Given the description of an element on the screen output the (x, y) to click on. 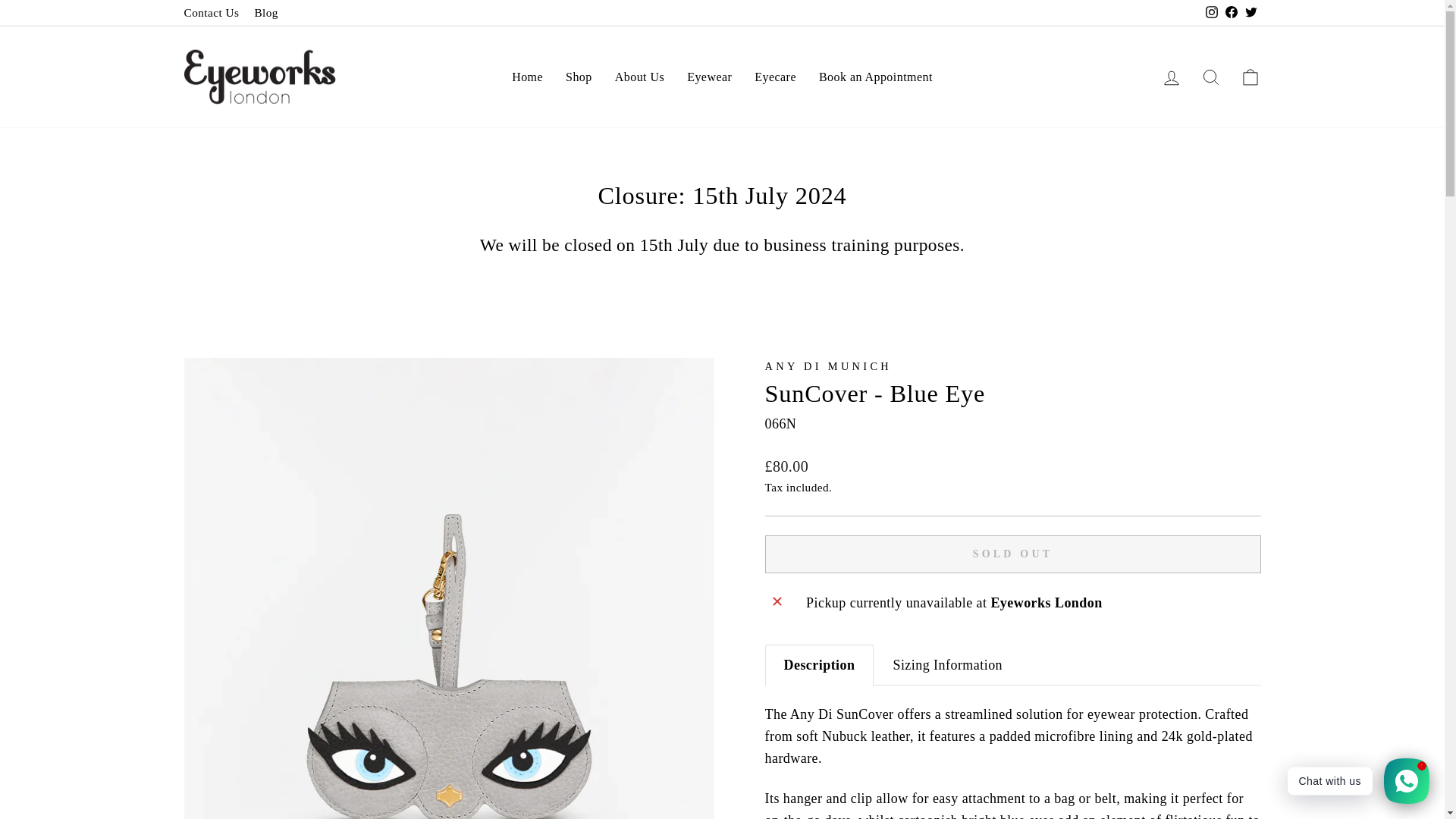
Contact Us (211, 12)
Blog (265, 12)
Any Di Munich (827, 366)
